Given the description of an element on the screen output the (x, y) to click on. 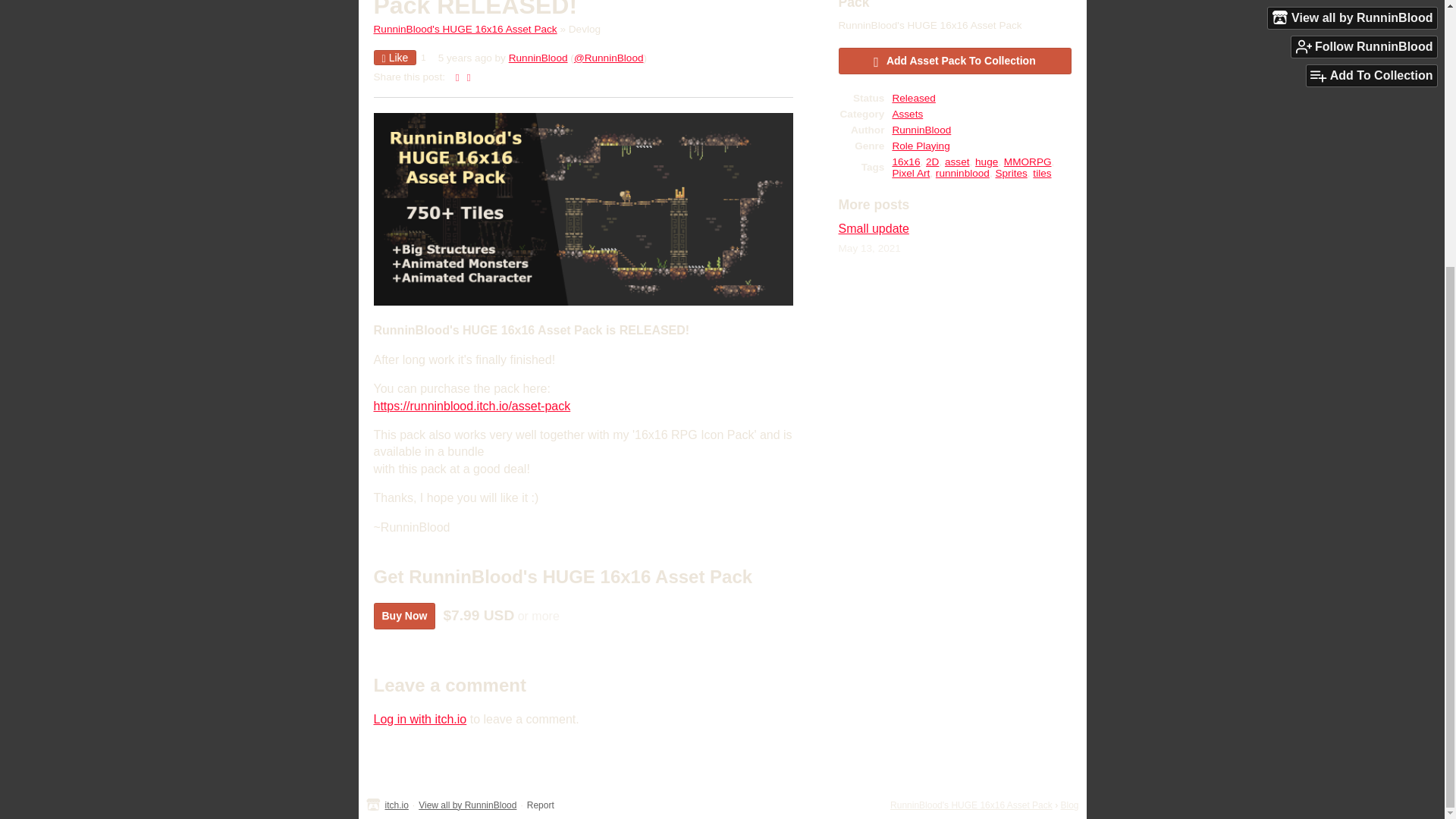
Like (394, 57)
2019-07-06 21:07:36 (465, 57)
RunninBlood's HUGE 16x16 Asset Pack (464, 29)
Buy Now (403, 615)
asset (956, 161)
tiles (1041, 173)
Role Playing (920, 145)
2D (932, 161)
RunninBlood's HUGE 16x16 Asset Pack (970, 805)
16x16 (905, 161)
Pixel Art (910, 173)
RunninBlood (920, 129)
Add Asset Pack To Collection (954, 60)
Blog (1068, 805)
View all by RunninBlood (467, 805)
